Given the description of an element on the screen output the (x, y) to click on. 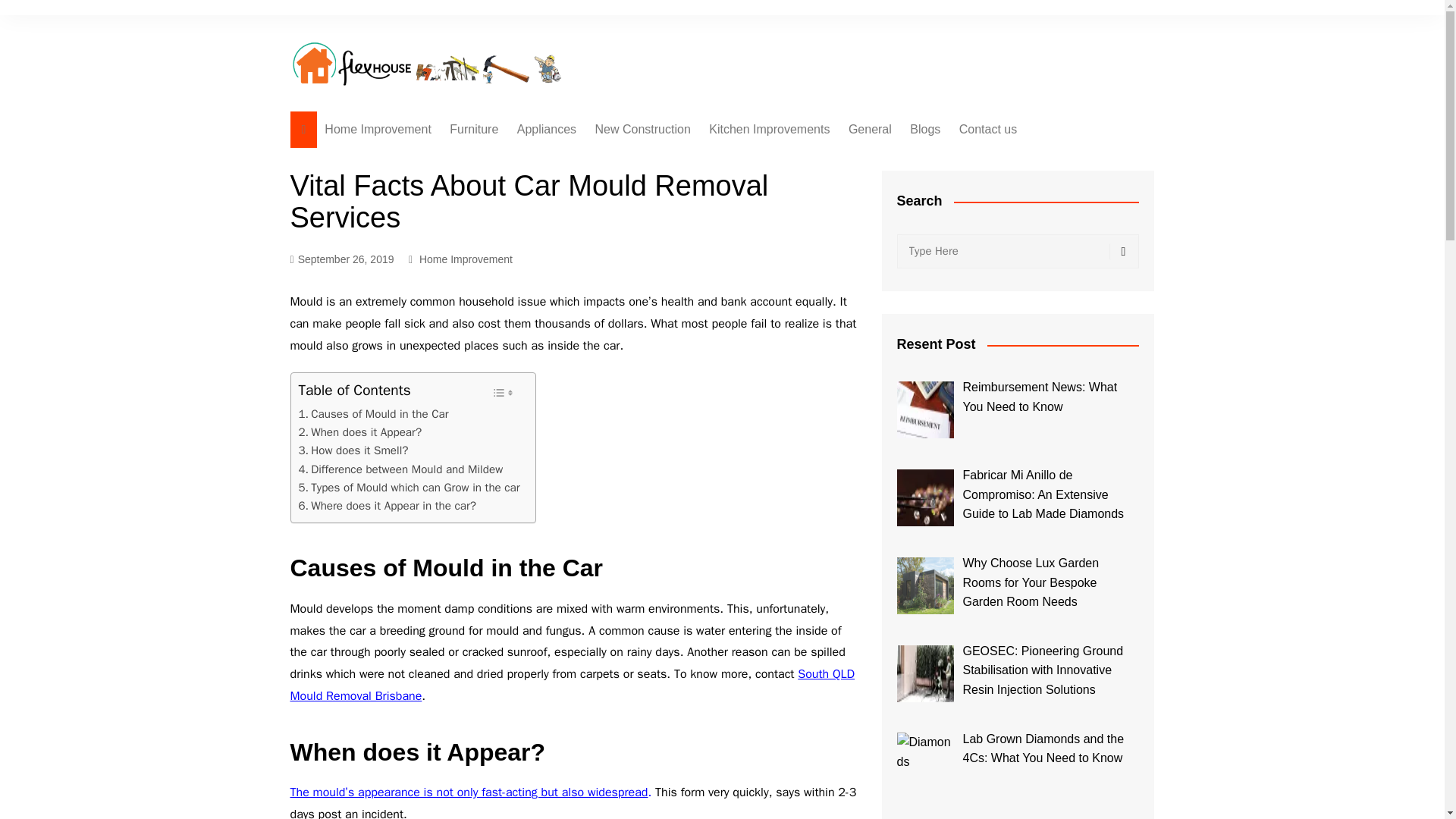
Contact us (988, 129)
Bath and Shower (593, 197)
Difference between Mould and Mildew (400, 469)
Causes of Mould in the Car (373, 413)
Cleaning Tips and Tools (593, 222)
Home Improvement (465, 258)
General (870, 129)
Causes of Mould in the Car (373, 413)
Kitchen Improvements (769, 129)
